Given the description of an element on the screen output the (x, y) to click on. 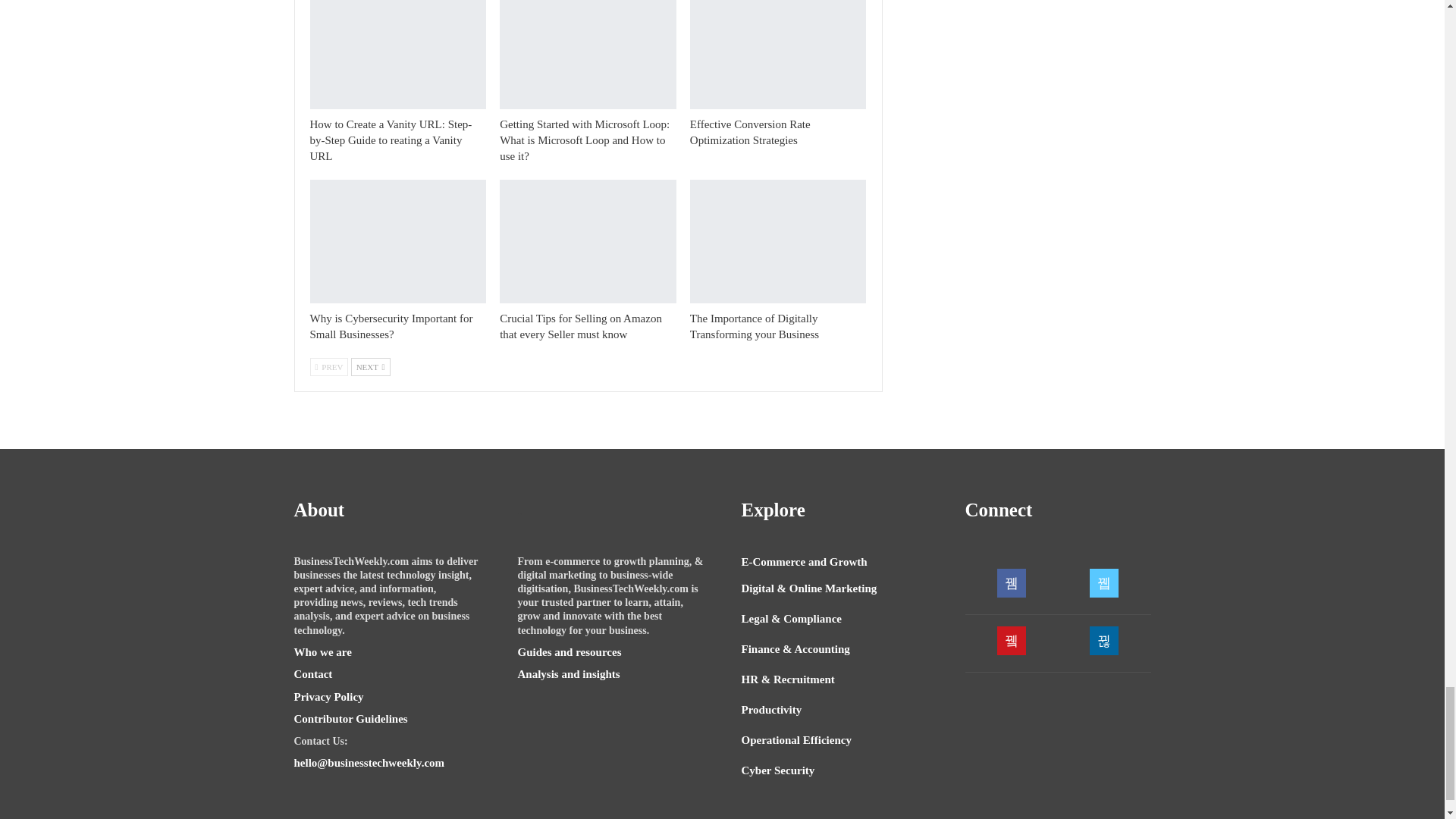
Effective Conversion Rate Optimization Strategies (778, 54)
The Importance of Digitally Transforming your Business (754, 326)
Previous (327, 366)
The Importance of Digitally Transforming your Business (778, 241)
Next (370, 366)
Why is Cybersecurity Important for Small Businesses? (389, 326)
